Given the description of an element on the screen output the (x, y) to click on. 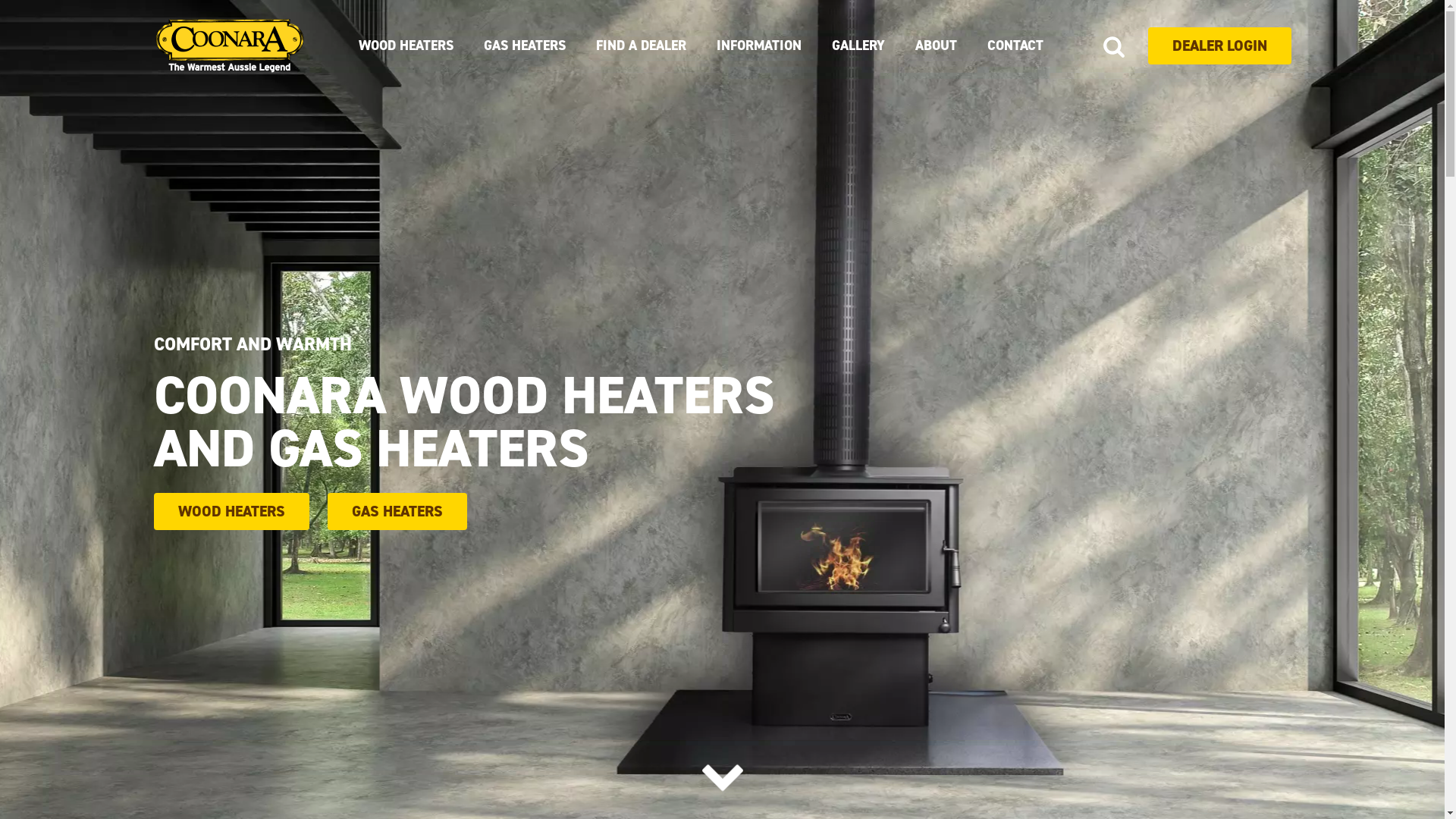
CONTACT Element type: text (1015, 45)
DEALER LOGIN Element type: text (1219, 45)
ABOUT Element type: text (935, 45)
GAS HEATERS Element type: text (397, 511)
GALLERY Element type: text (857, 45)
GAS HEATERS Element type: text (524, 45)
WOOD HEATERS Element type: text (404, 45)
FIND A DEALER Element type: text (640, 45)
WOOD HEATERS Element type: text (230, 511)
INFORMATION Element type: text (757, 45)
